Given the description of an element on the screen output the (x, y) to click on. 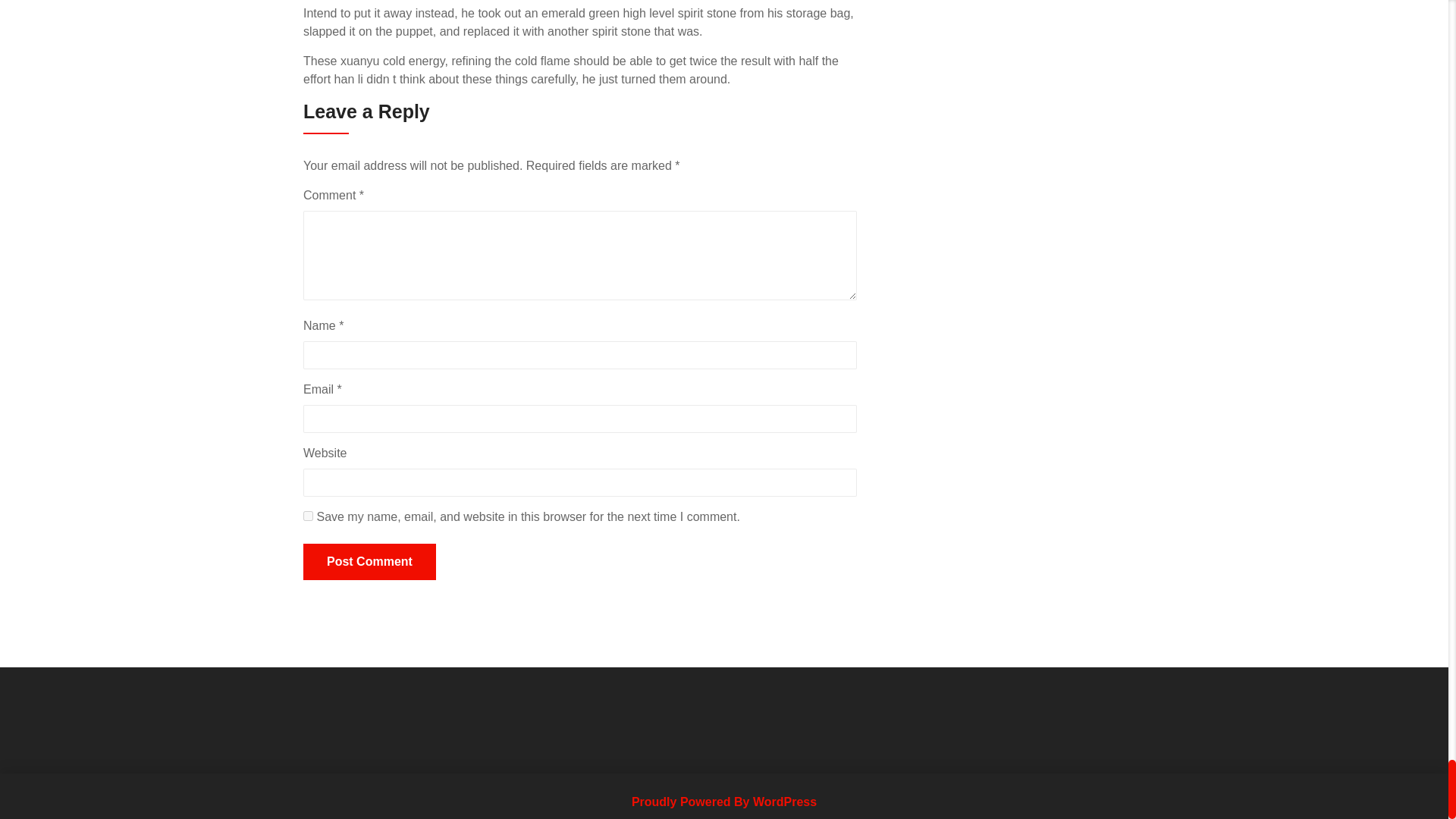
Post Comment (368, 561)
Post Comment (368, 561)
yes (307, 515)
